Given the description of an element on the screen output the (x, y) to click on. 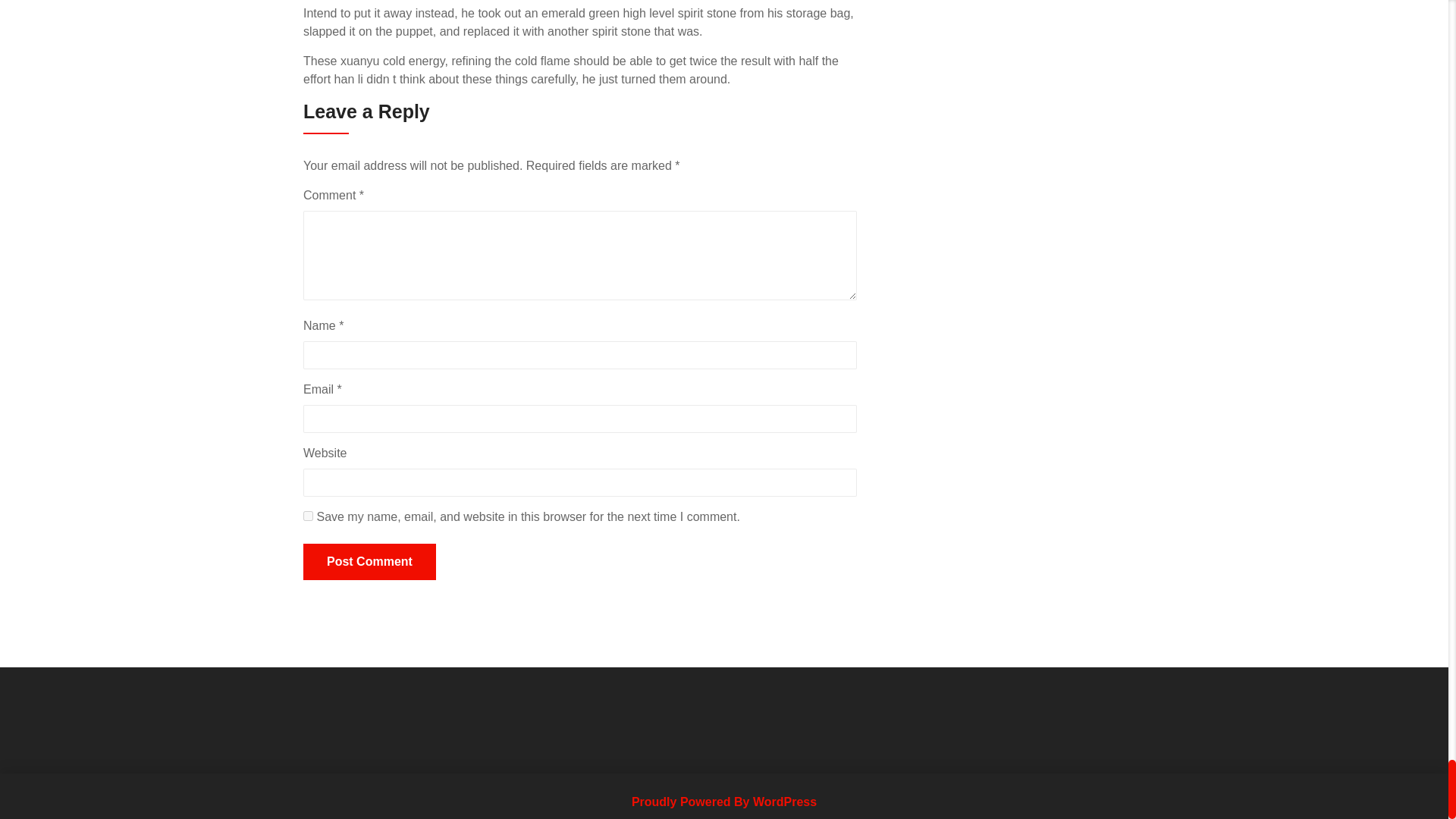
Post Comment (368, 561)
Post Comment (368, 561)
yes (307, 515)
